Given the description of an element on the screen output the (x, y) to click on. 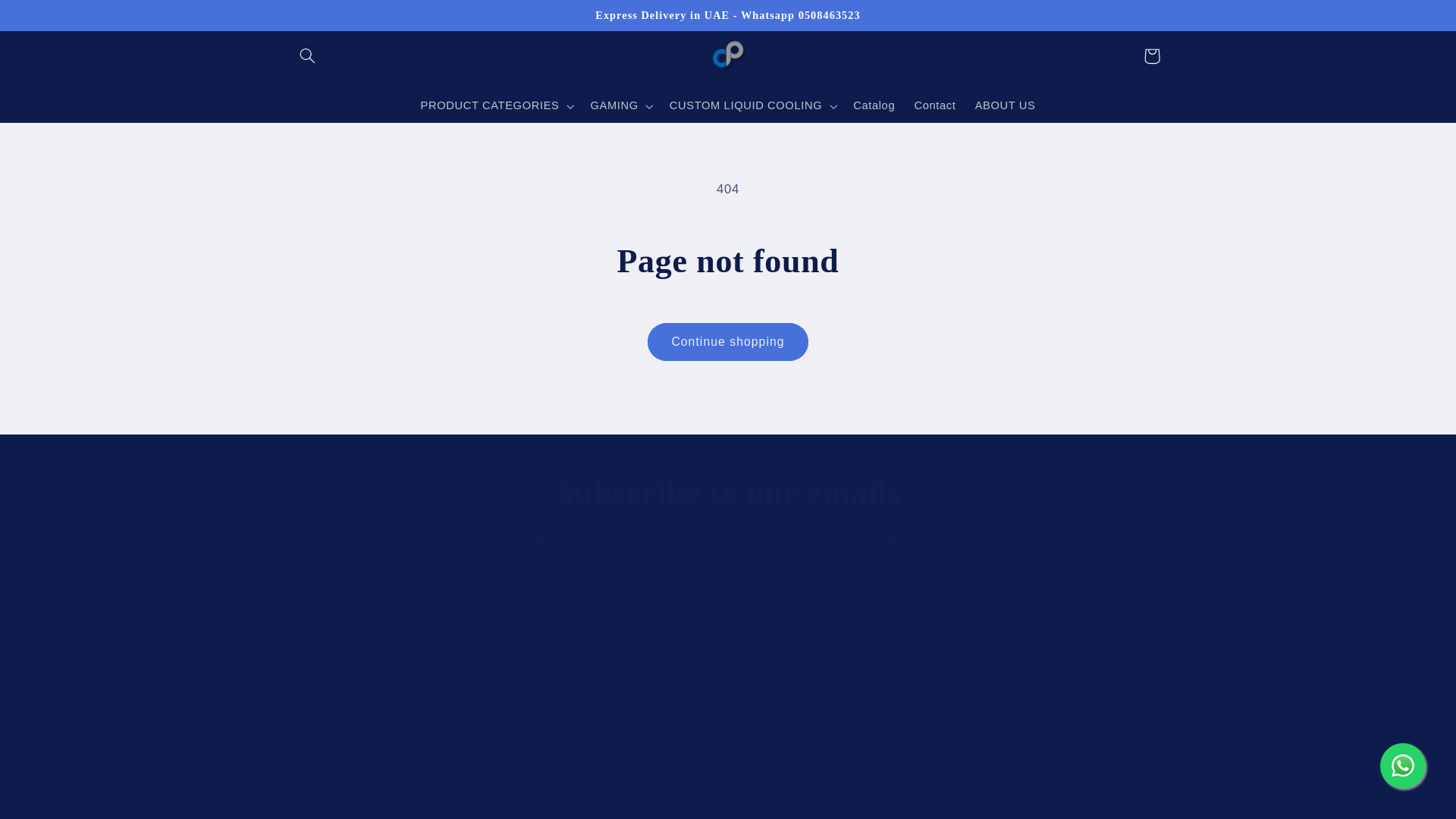
Subscribe to our emails (727, 493)
Skip to content (48, 18)
Email (727, 587)
